Given the description of an element on the screen output the (x, y) to click on. 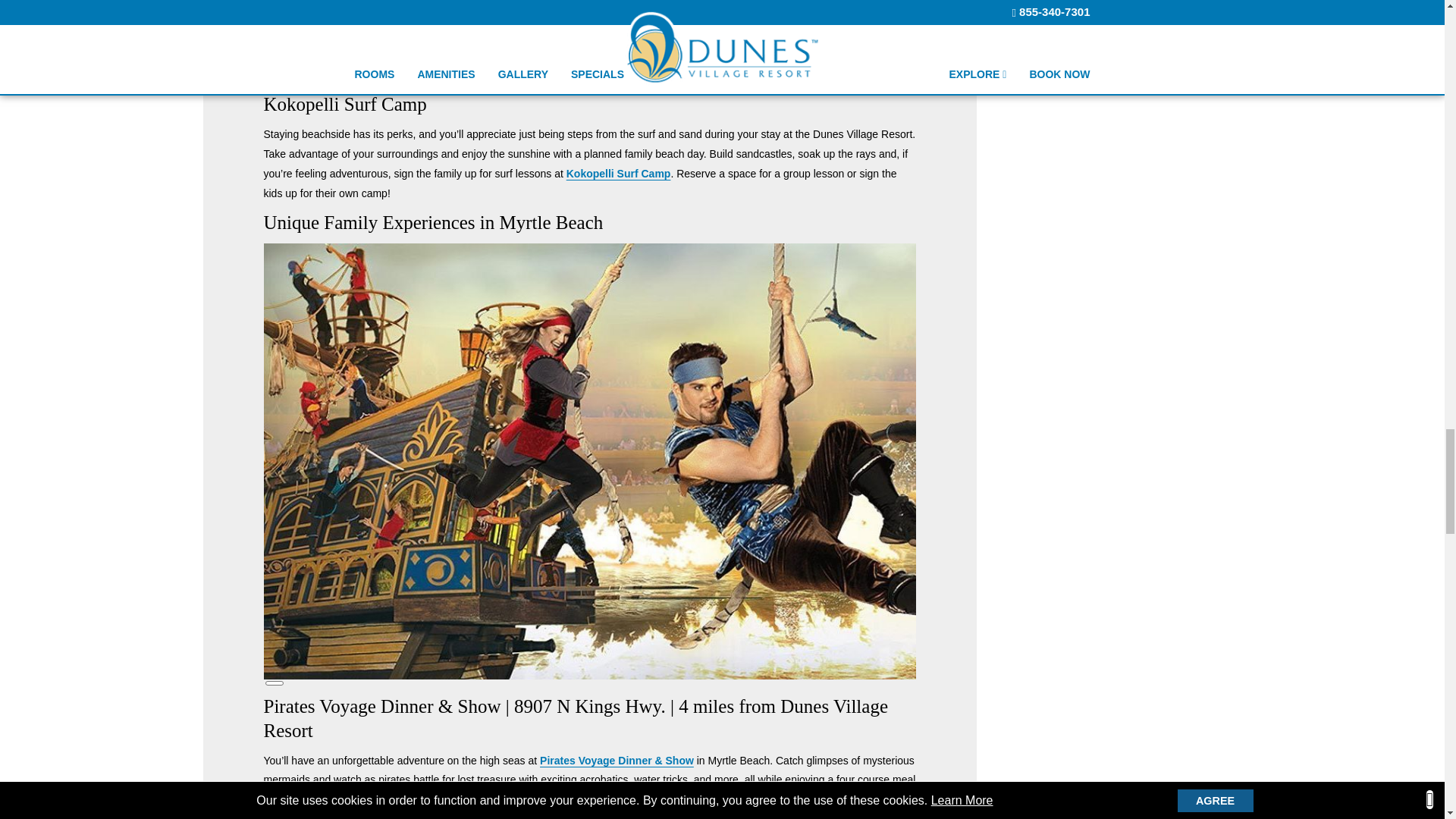
Kokopelli Surf Camp (618, 173)
Lowcountry Zoo (838, 55)
Long Description (273, 682)
